Given the description of an element on the screen output the (x, y) to click on. 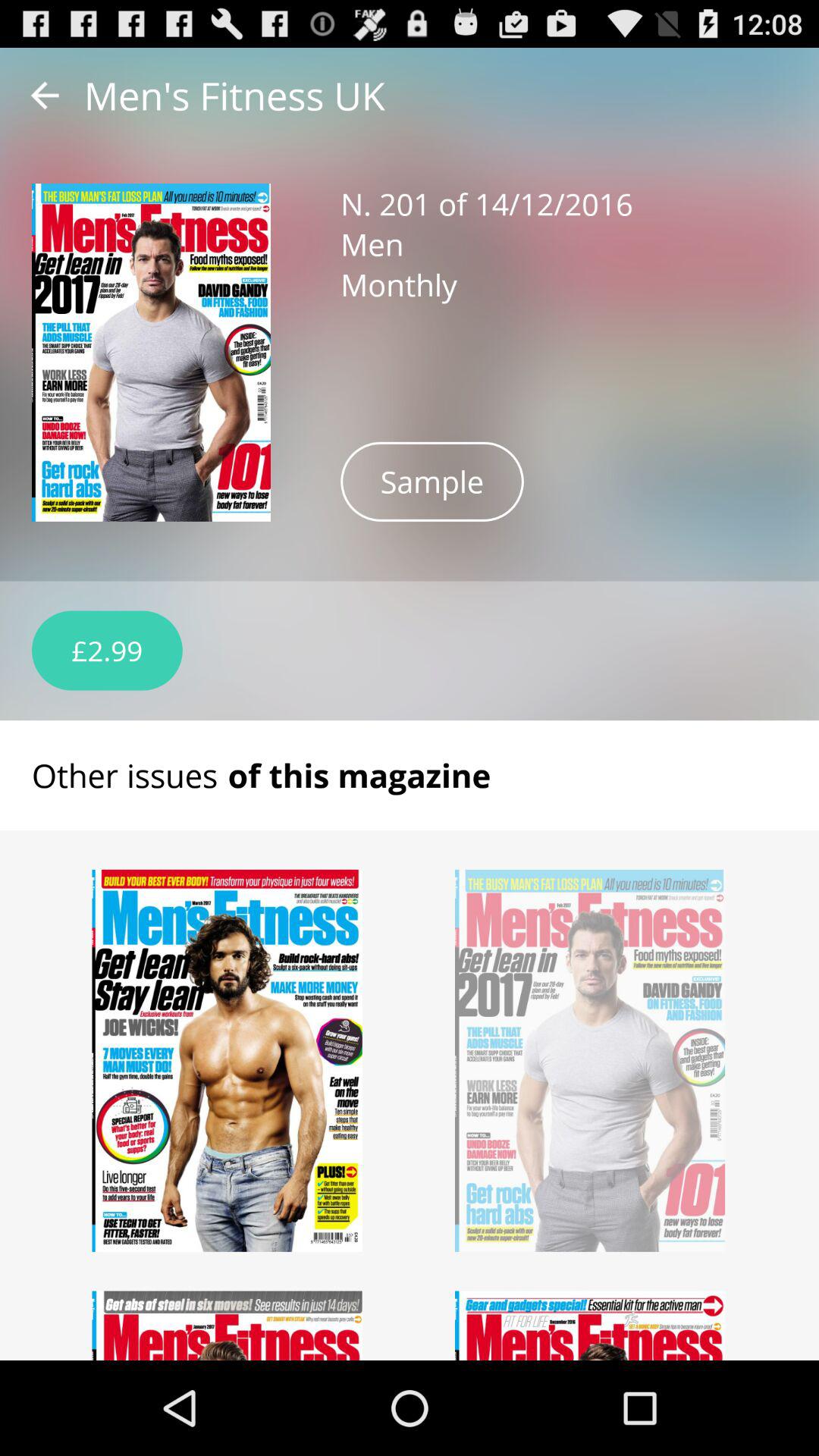
view magazine issue (227, 1060)
